Given the description of an element on the screen output the (x, y) to click on. 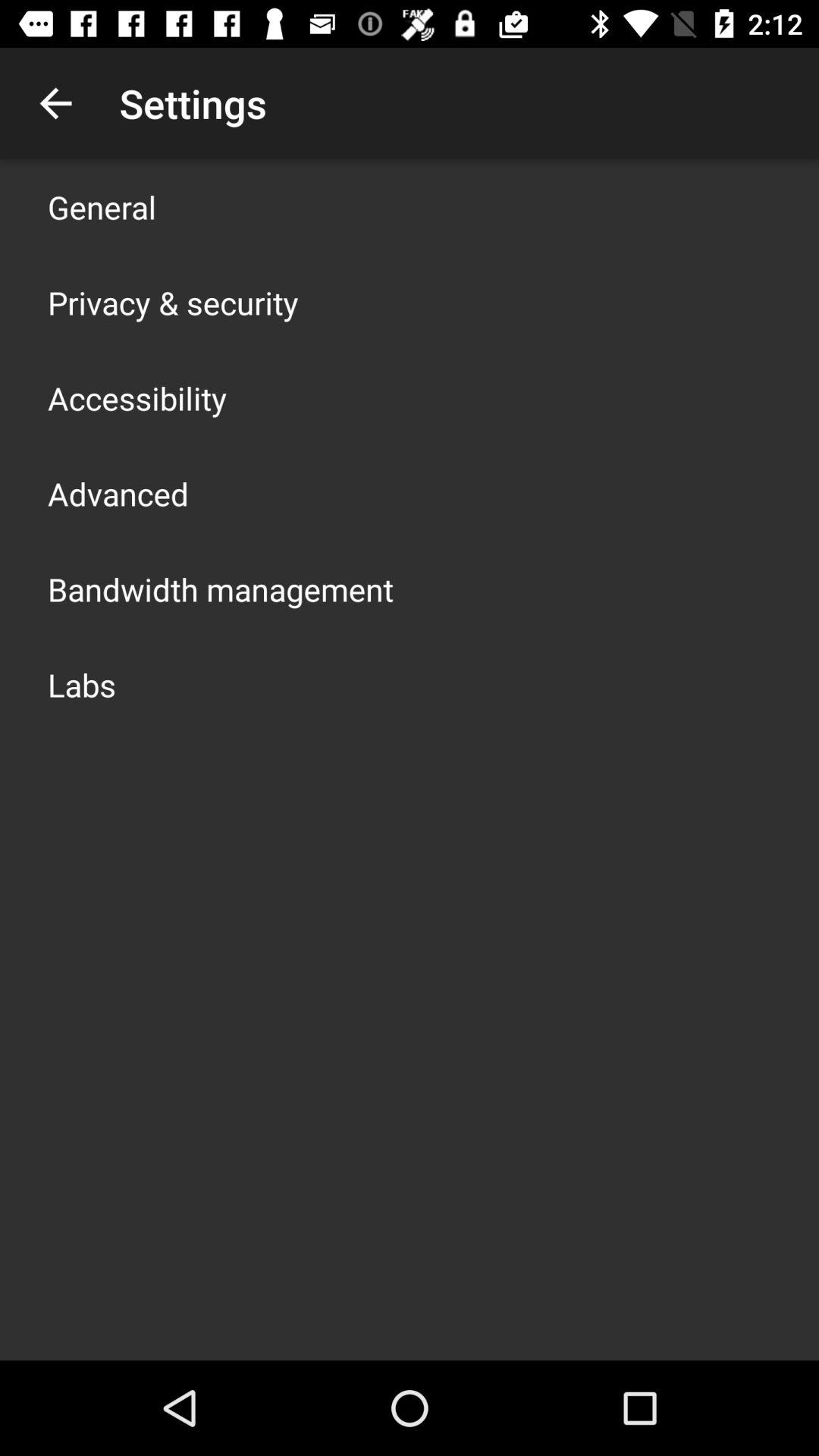
select app above privacy & security icon (101, 206)
